Given the description of an element on the screen output the (x, y) to click on. 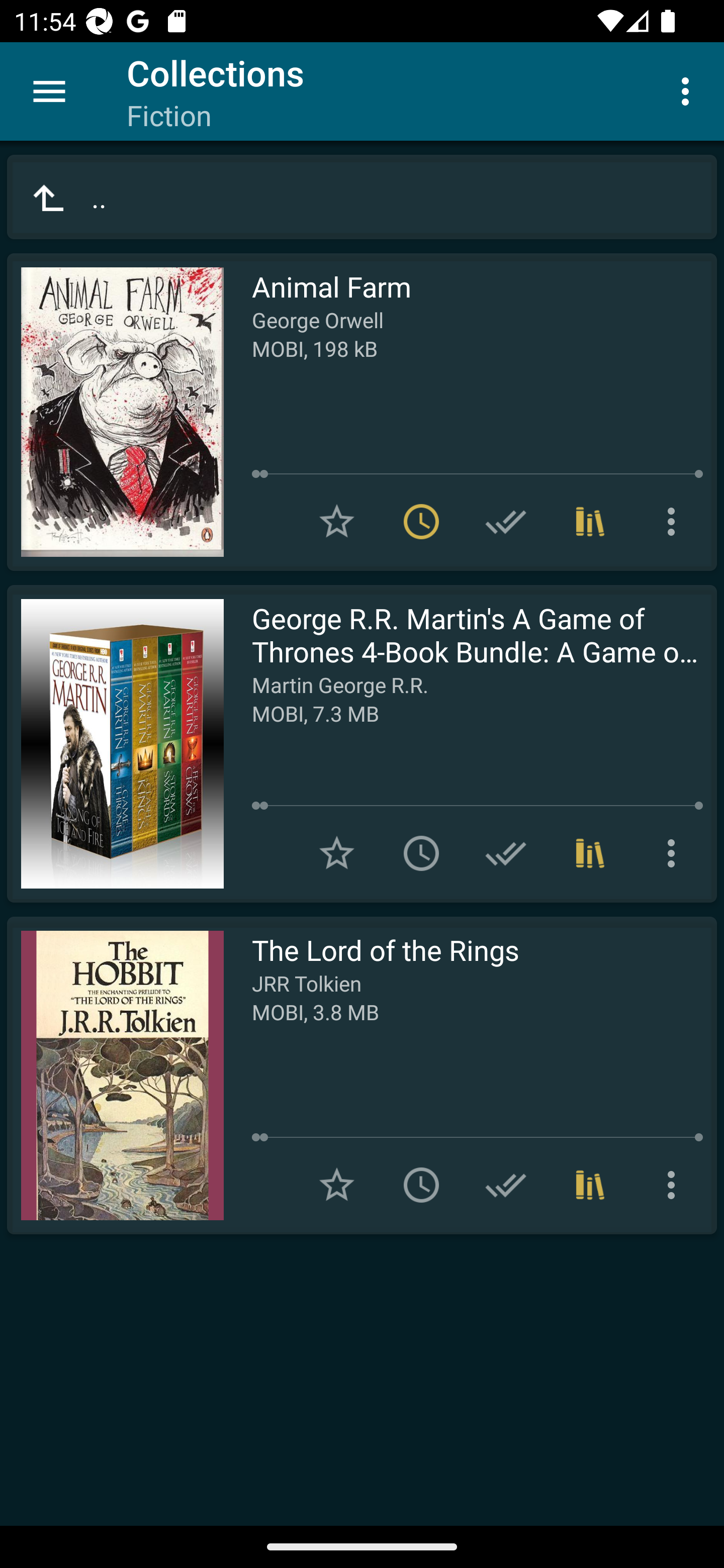
Menu (49, 91)
More options (688, 90)
.. (361, 197)
Read Animal Farm (115, 412)
Add to Favorites (336, 521)
Remove from To read (421, 521)
Add to Have read (505, 521)
Collections (1) (590, 521)
More options (674, 521)
Add to Favorites (336, 852)
Add to To read (421, 852)
Add to Have read (505, 852)
Collections (1) (590, 852)
More options (674, 852)
Read The Lord of the Rings (115, 1075)
Add to Favorites (336, 1185)
Add to To read (421, 1185)
Add to Have read (505, 1185)
Collections (1) (590, 1185)
More options (674, 1185)
